Given the description of an element on the screen output the (x, y) to click on. 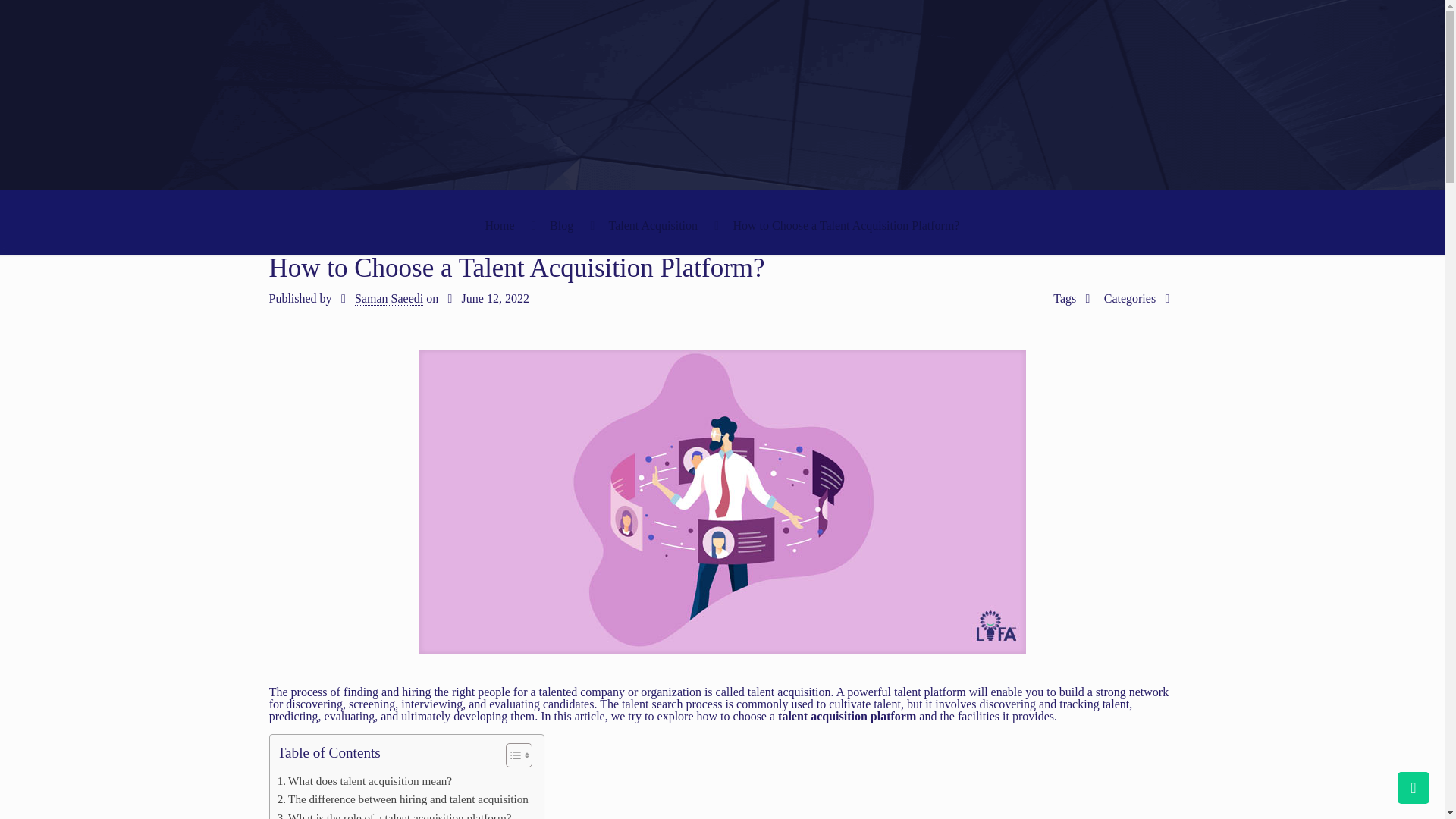
What does talent acquisition mean? (364, 781)
Home (499, 225)
Blog (561, 225)
What does talent acquisition mean? (364, 781)
What is the role of a talent acquisition platform? (395, 814)
The difference between hiring and talent acquisition (403, 799)
Talent Acquisition (653, 225)
How to Choose a Talent Acquisition Platform? (845, 225)
Saman Saeedi (389, 298)
What is the role of a talent acquisition platform? (395, 814)
